Given the description of an element on the screen output the (x, y) to click on. 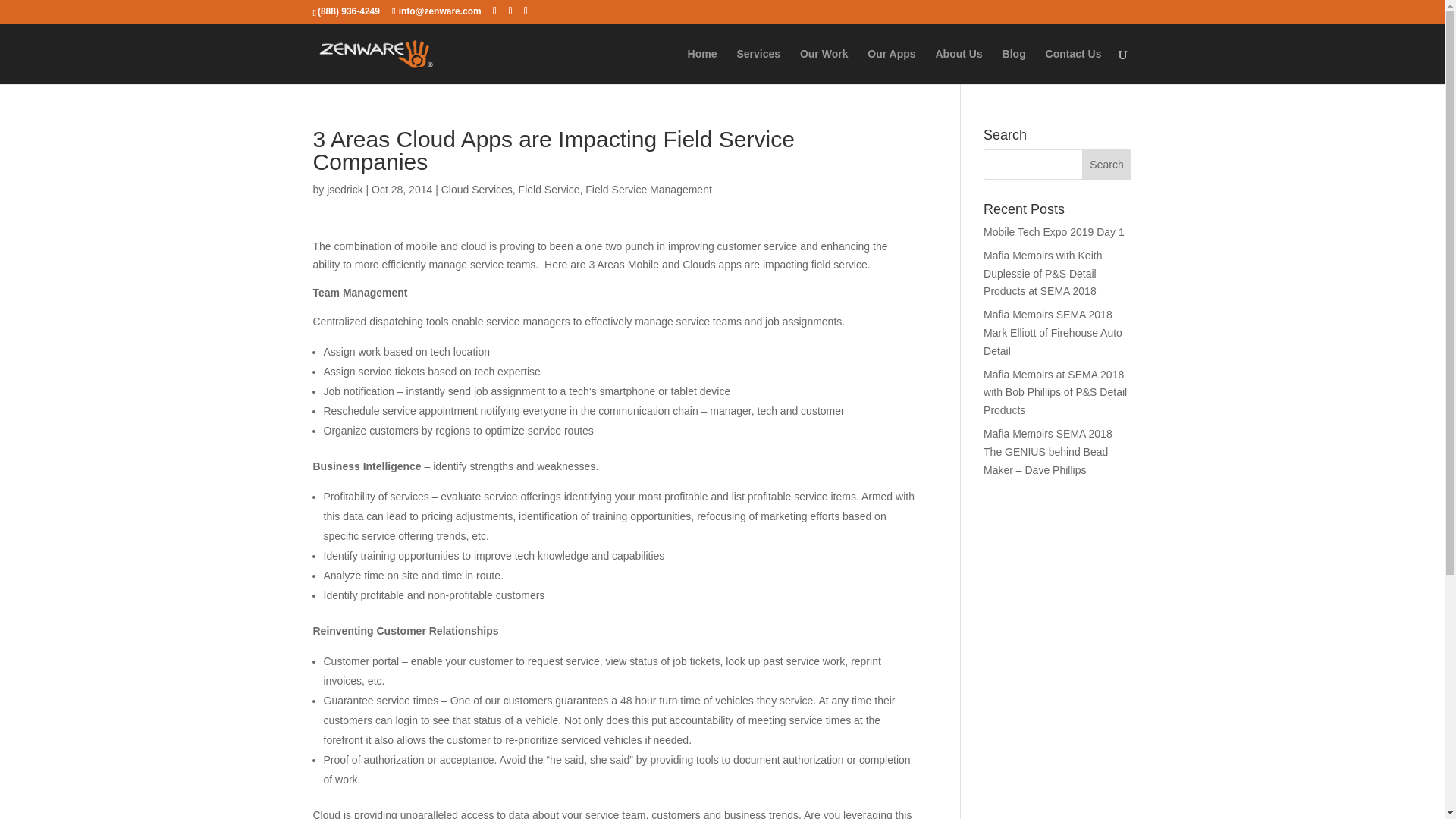
Field Service (548, 189)
Search (1106, 164)
Contact Us (1073, 66)
Posts by jsedrick (344, 189)
Our Apps (891, 66)
jsedrick (344, 189)
Field Service Management (648, 189)
Our Work (823, 66)
Cloud Services (476, 189)
Services (758, 66)
Mobile Tech Expo 2019 Day 1 (1054, 232)
Search (1106, 164)
About Us (957, 66)
